Given the description of an element on the screen output the (x, y) to click on. 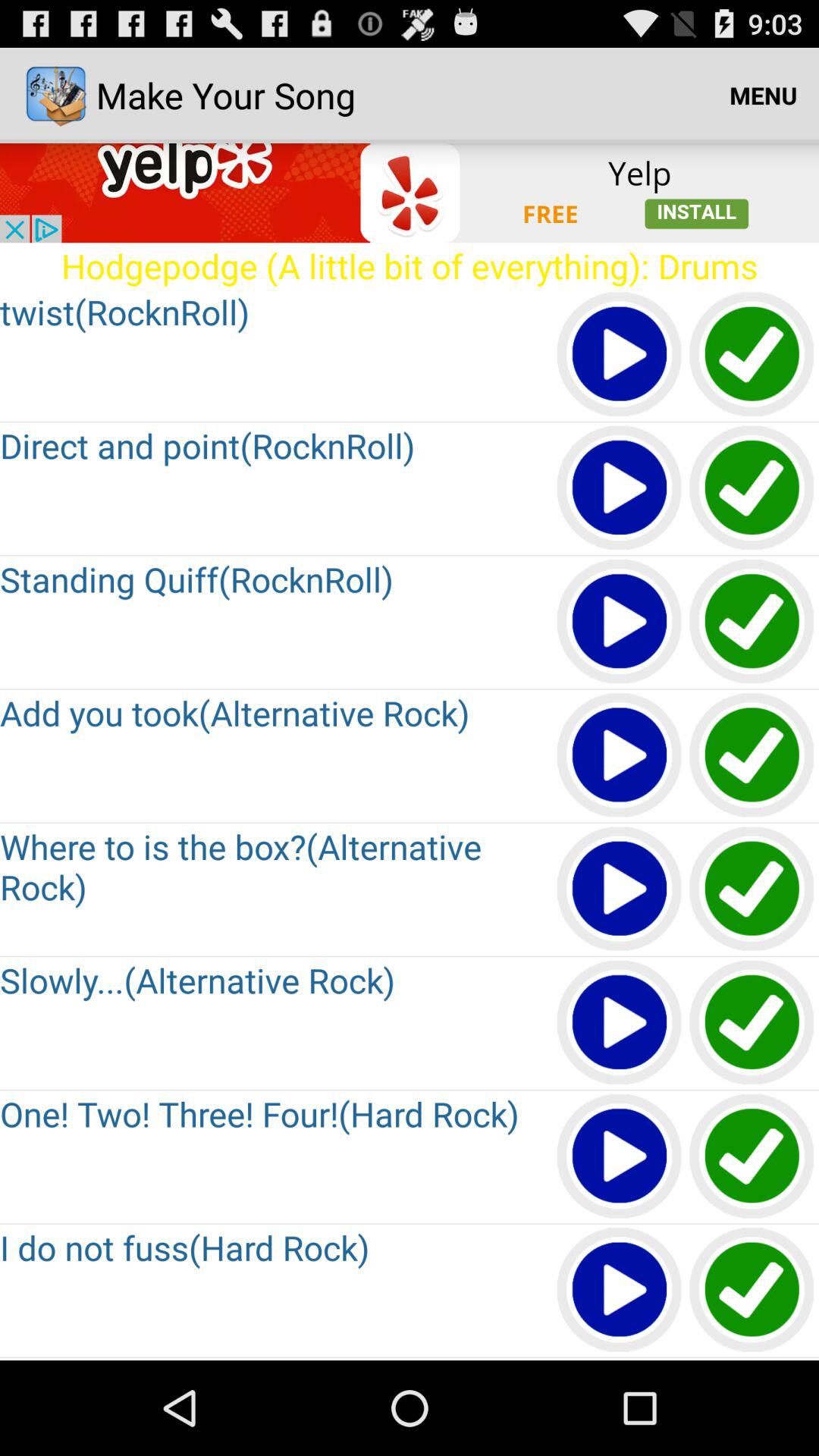
ok (752, 1023)
